Given the description of an element on the screen output the (x, y) to click on. 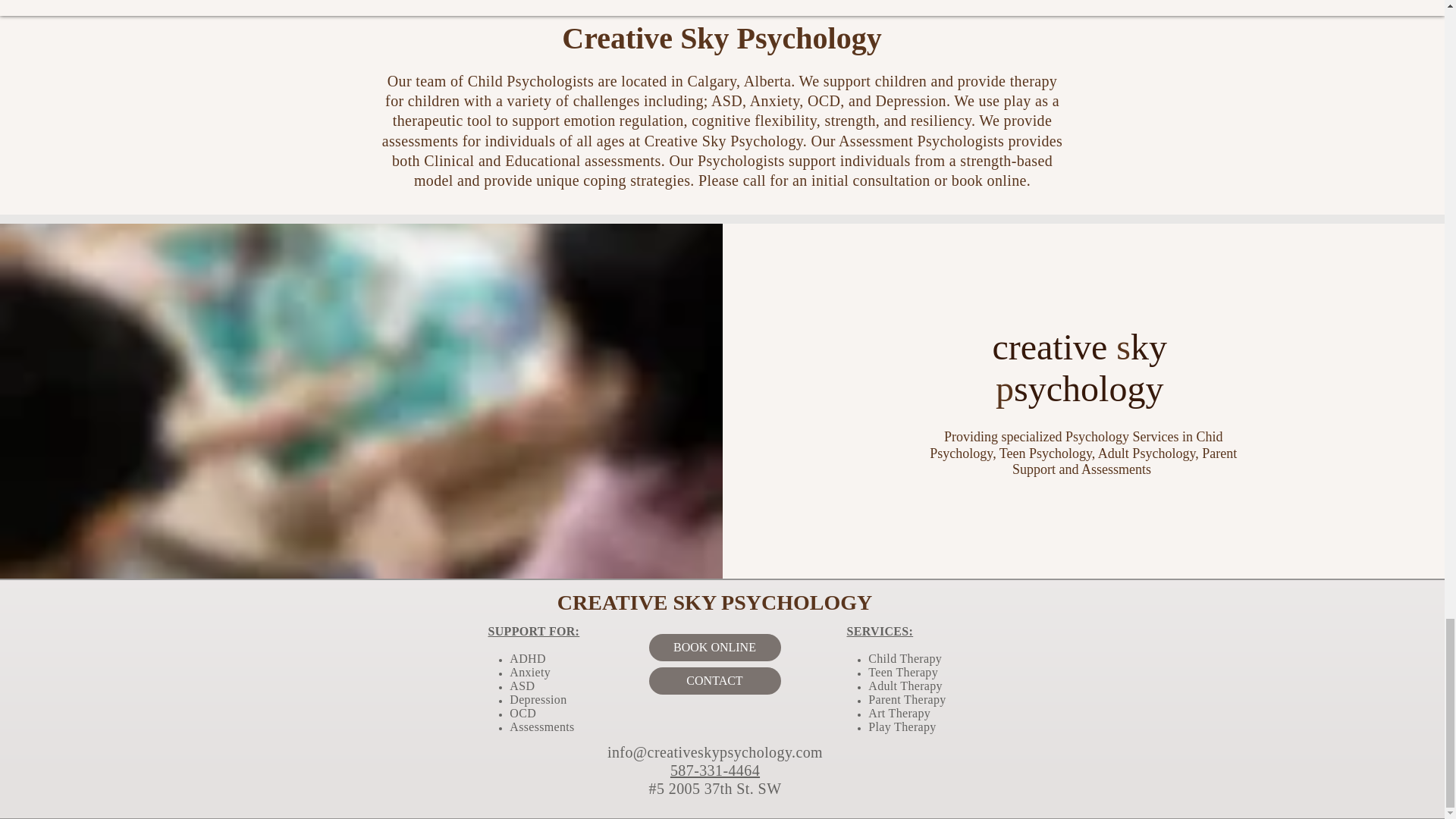
Anxiety  (531, 671)
ADHD (527, 658)
Depression (537, 698)
ASD (521, 685)
